Given the description of an element on the screen output the (x, y) to click on. 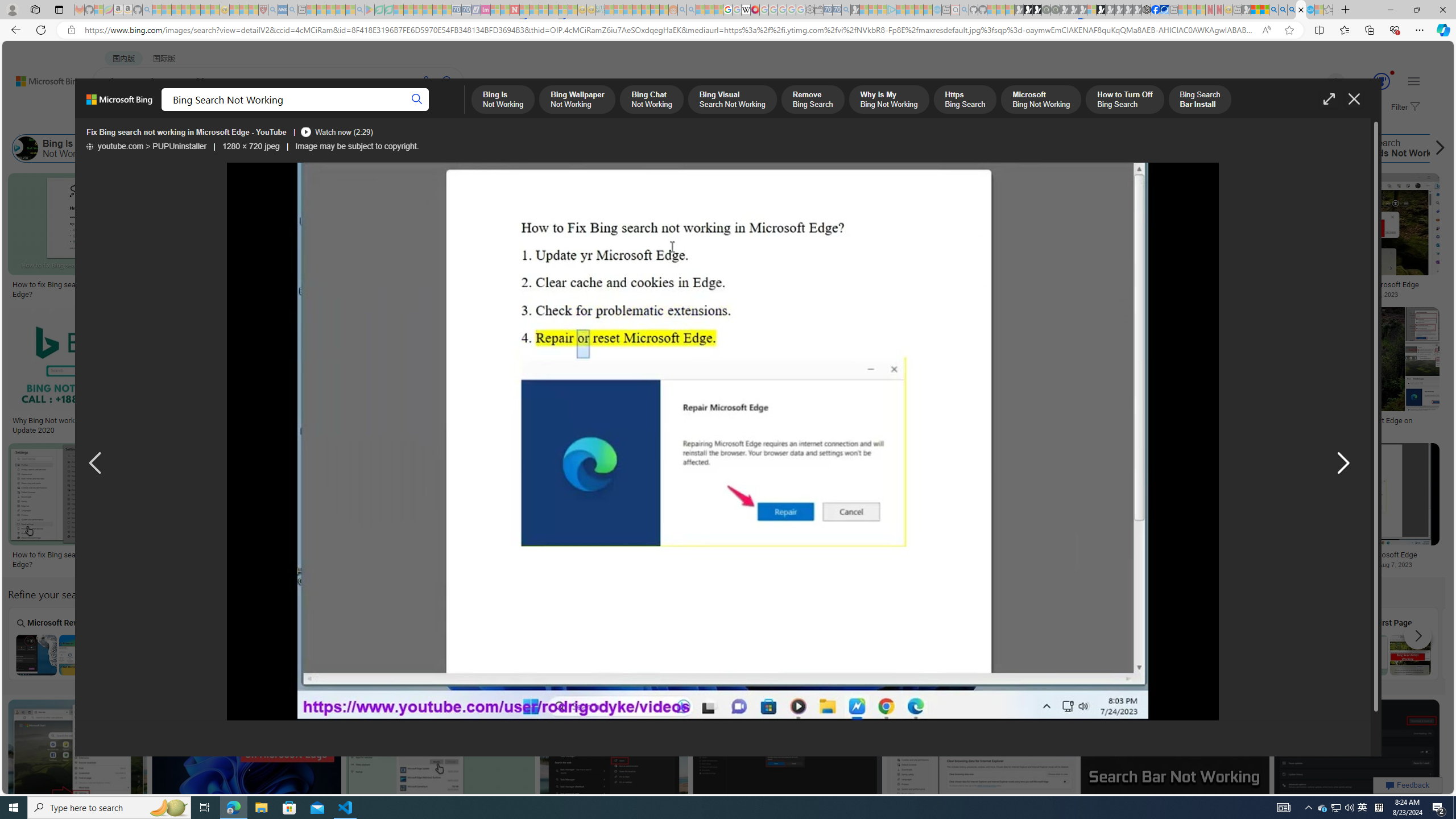
Https Bing Search (705, 148)
Crosby Christmas Album (804, 212)
Bing searches not working? : r/bing (790, 420)
Microsoft Bing Not Working (808, 148)
Bing Visual Search Not Working Visual (774, 643)
3:16 (1280, 183)
Fix Bing Search Not Working In Microsoft Edge (1350, 284)
